Given the description of an element on the screen output the (x, y) to click on. 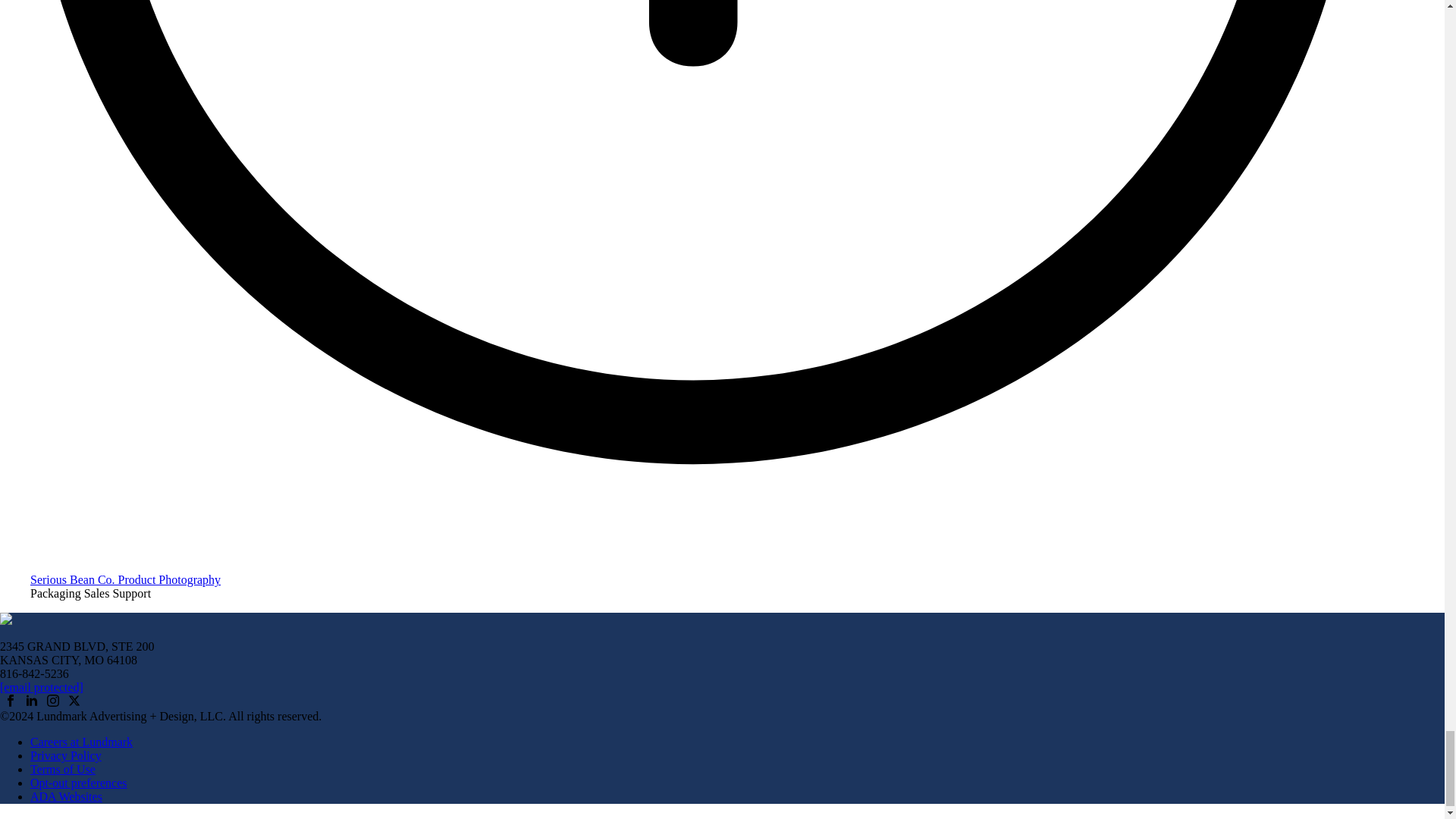
Follow Us on linkedin (31, 702)
Follow Us on facebook (10, 702)
Serious Bean Co. Product Photography (125, 579)
